Given the description of an element on the screen output the (x, y) to click on. 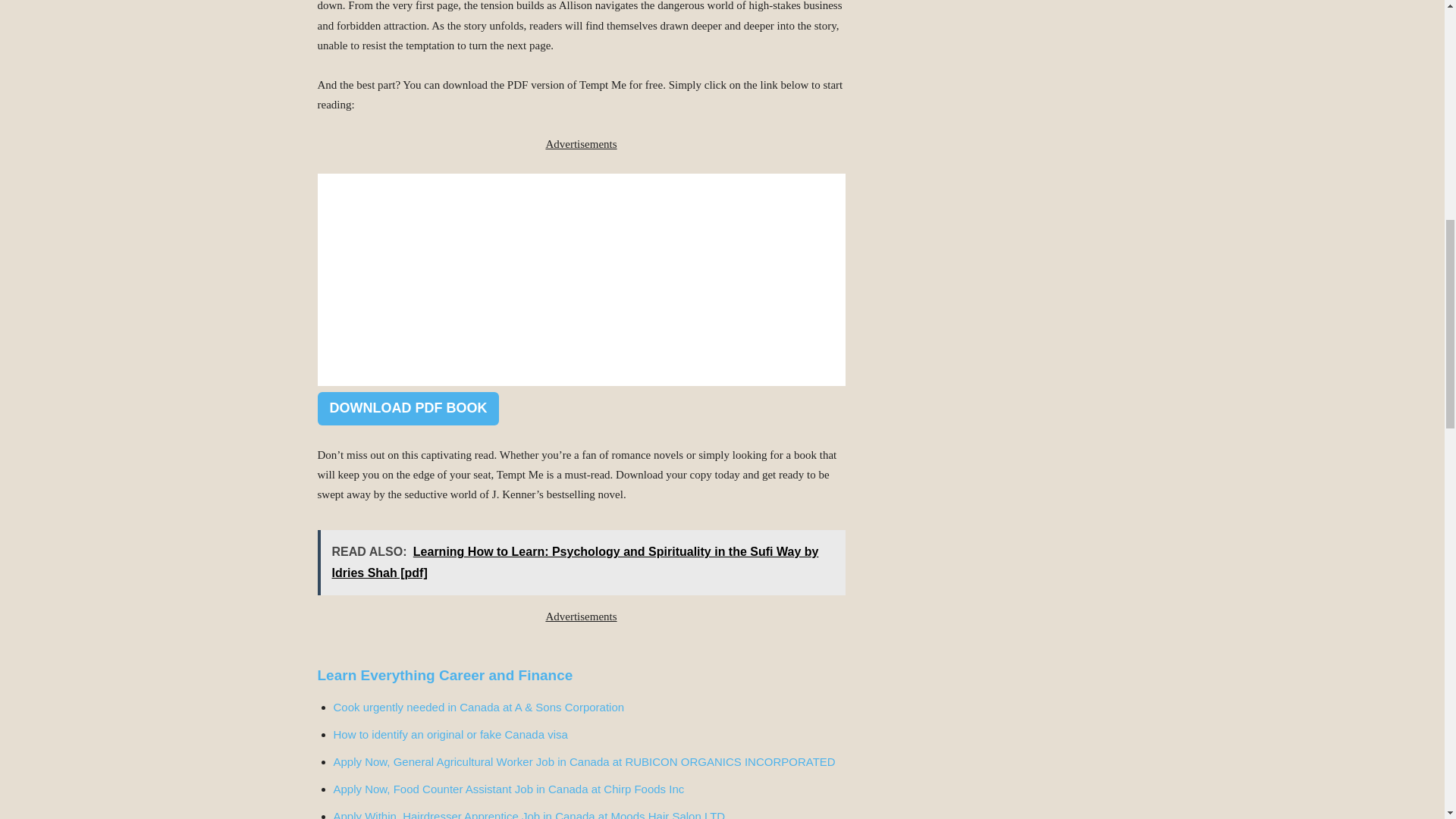
Advertisement (580, 279)
